Given the description of an element on the screen output the (x, y) to click on. 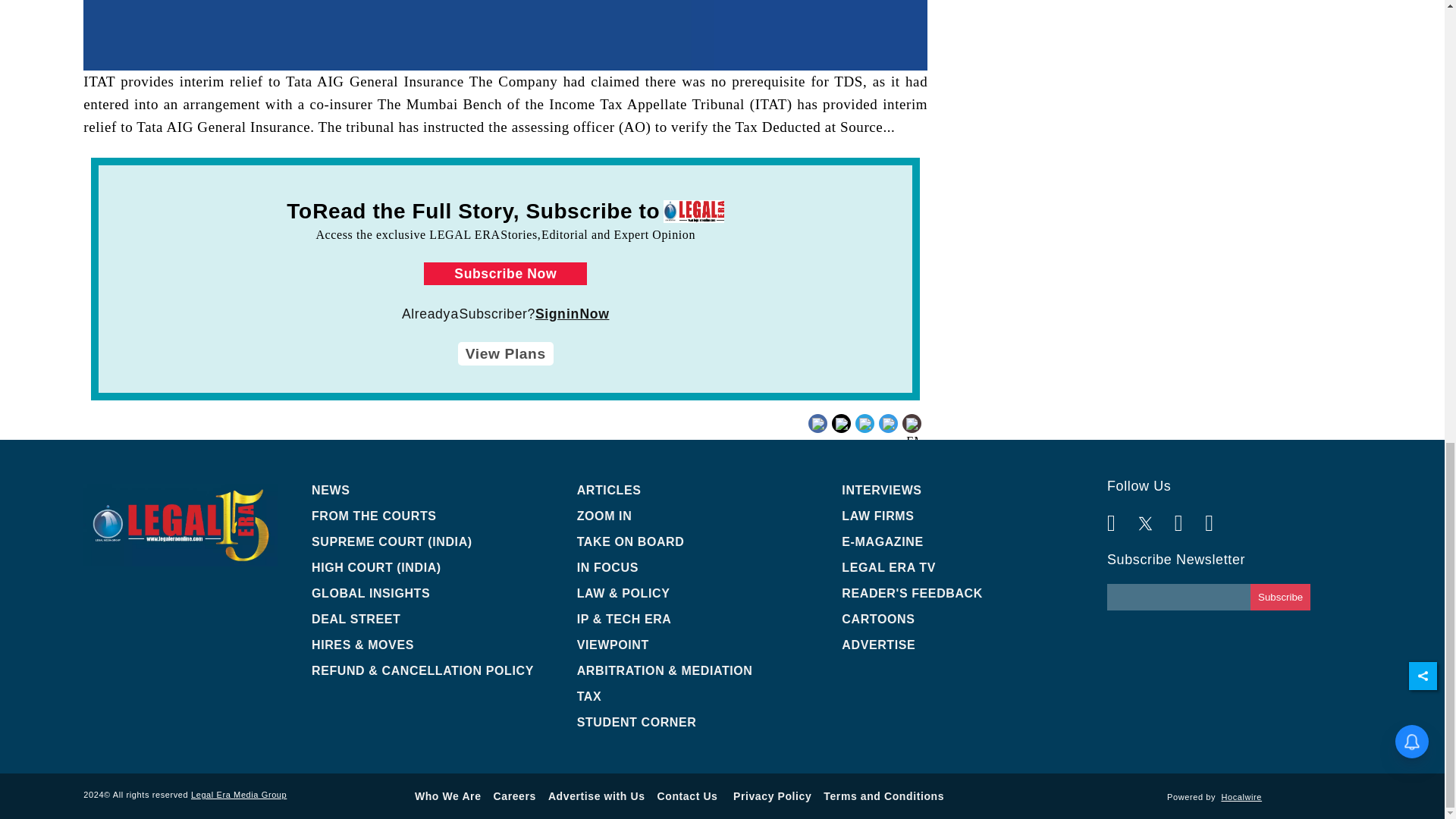
twitter (863, 434)
Subscribe (1280, 596)
LinkedIn (890, 421)
facebook (846, 434)
Facebook (845, 421)
Twitter (863, 421)
ITAT provides interim relief to Tata AIG General Insurance (504, 35)
